Given the description of an element on the screen output the (x, y) to click on. 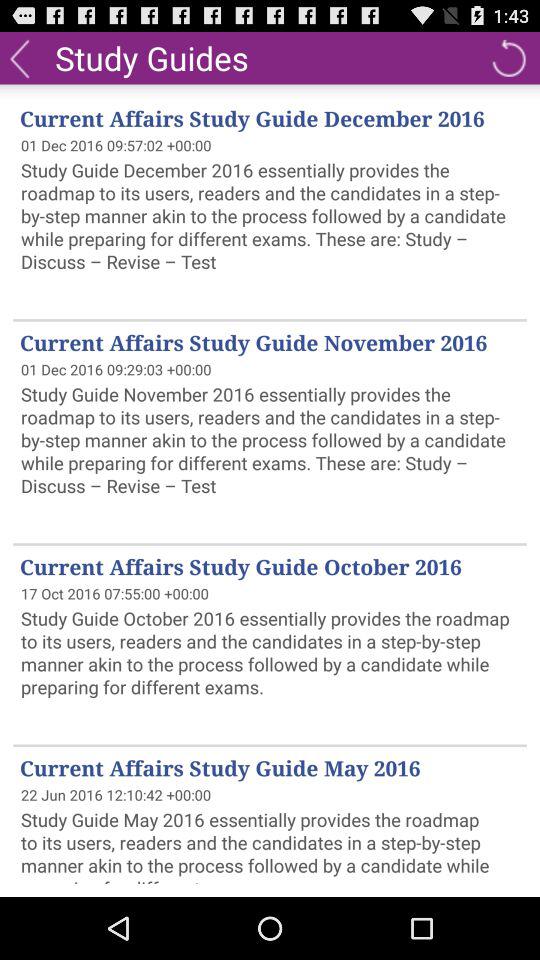
swipe until study guides icon (151, 57)
